Given the description of an element on the screen output the (x, y) to click on. 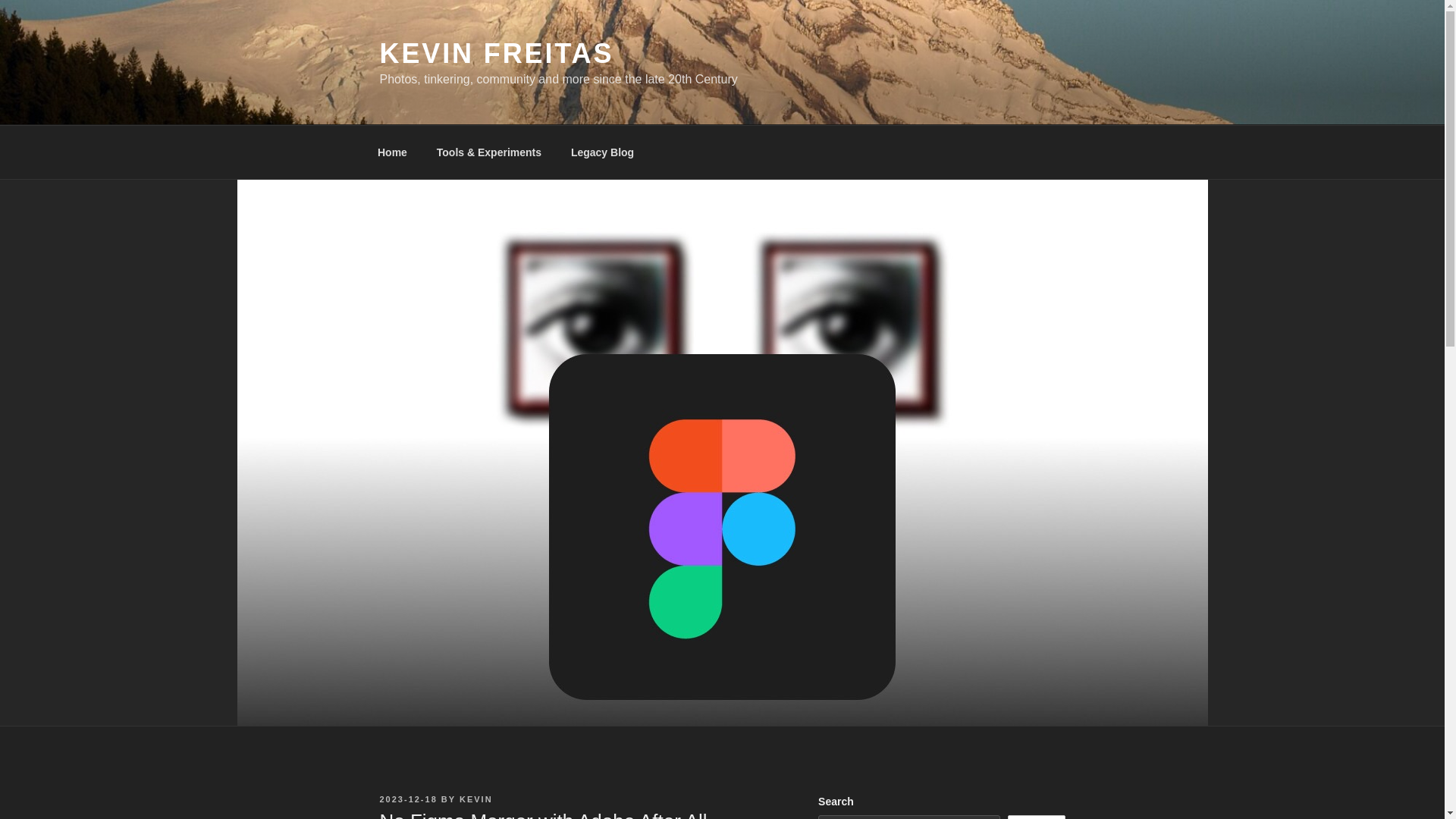
Search (1035, 816)
2023-12-18 (407, 798)
Legacy Blog (601, 151)
Home (392, 151)
KEVIN (476, 798)
KEVIN FREITAS (495, 52)
